Given the description of an element on the screen output the (x, y) to click on. 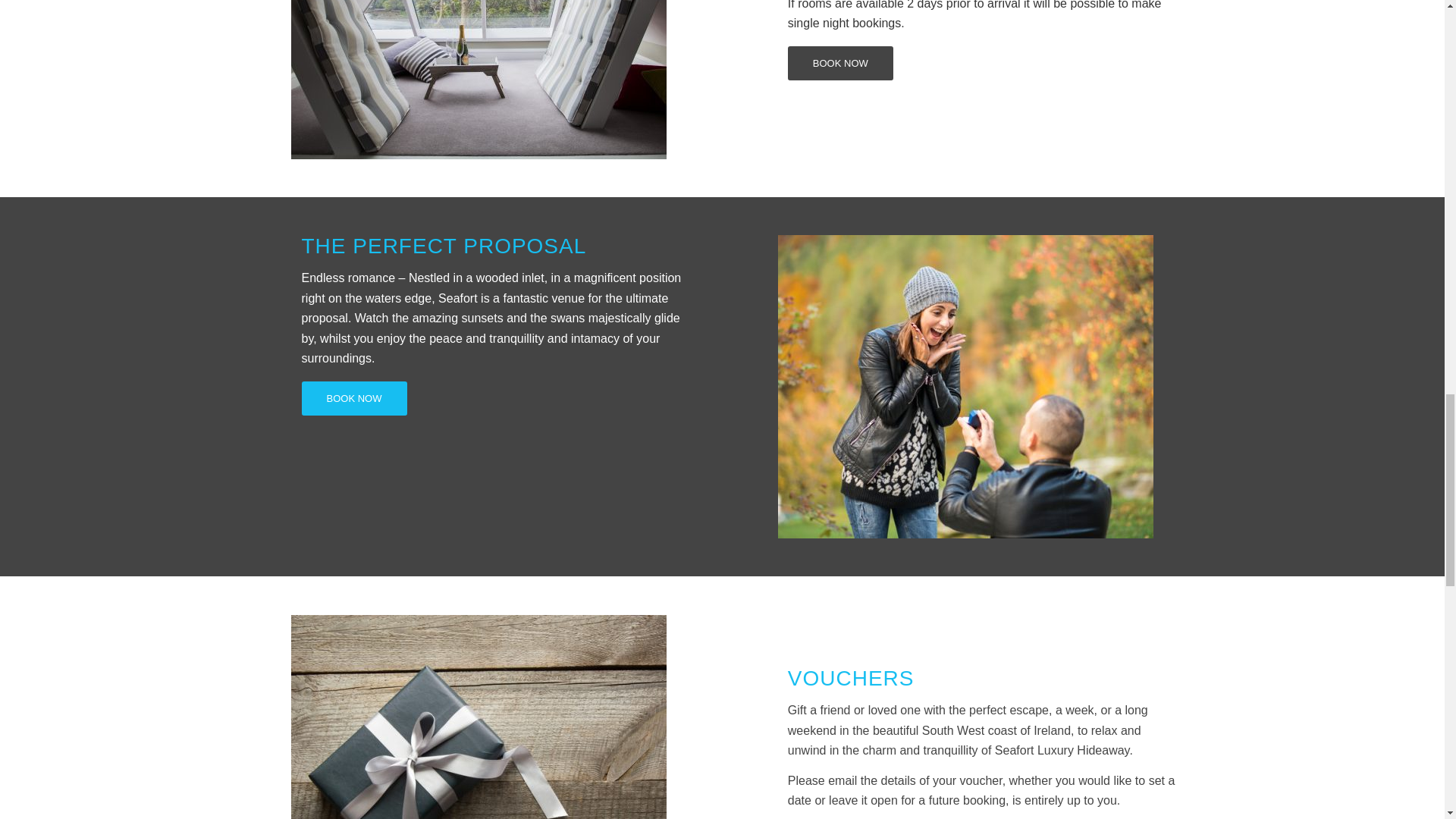
Gift box wrapped in black paper with ribbon on board. (478, 717)
BOOK NOW (840, 62)
BOOK NOW (354, 398)
